Given the description of an element on the screen output the (x, y) to click on. 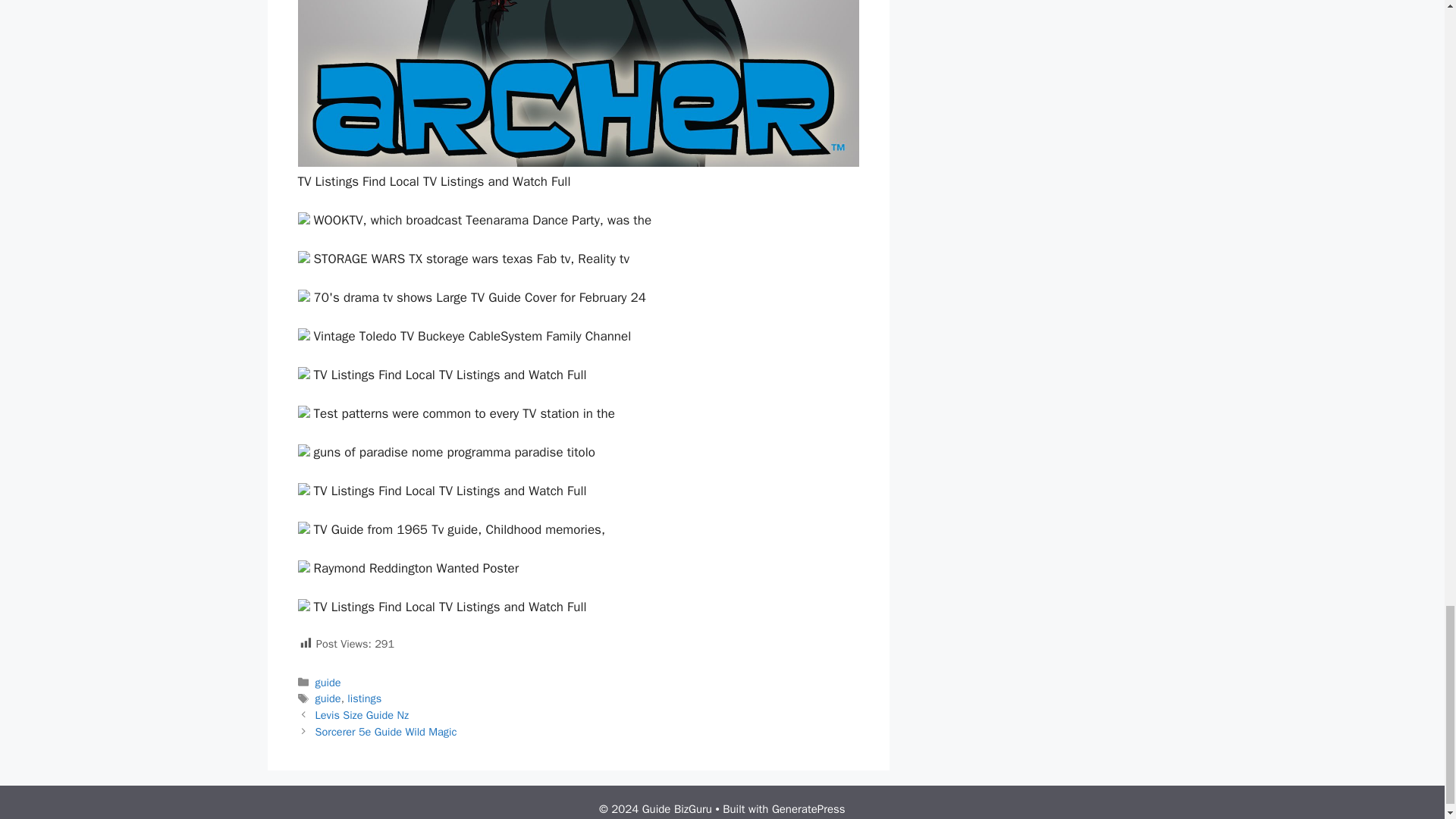
guide (327, 682)
guide (327, 698)
listings (364, 698)
GeneratePress (808, 808)
Sorcerer 5e Guide Wild Magic (386, 731)
Next (386, 731)
Previous (362, 714)
Levis Size Guide Nz (362, 714)
